Given the description of an element on the screen output the (x, y) to click on. 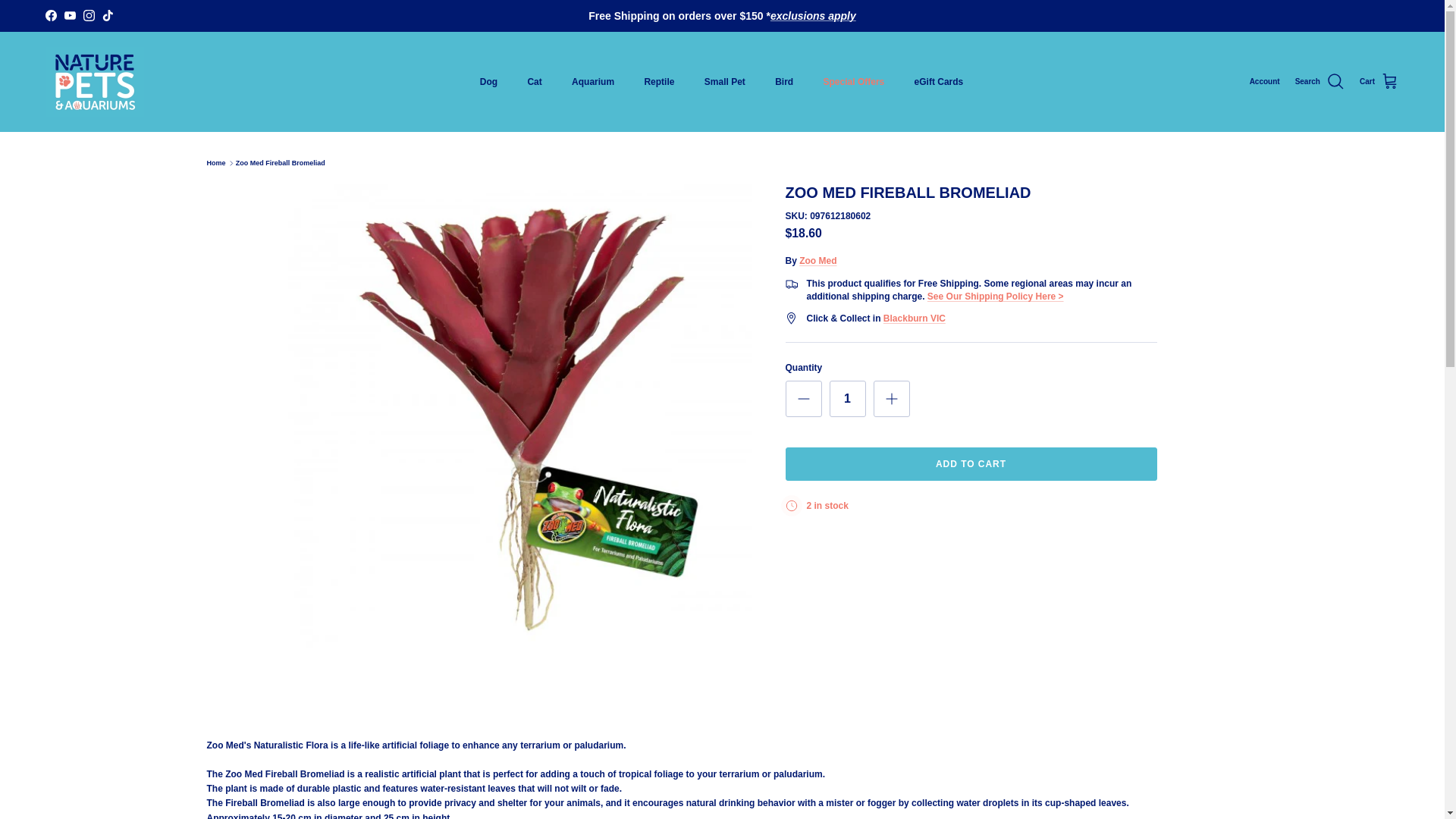
Account (1264, 81)
Special Offers (853, 81)
exclusions apply (813, 15)
Small Pet (724, 81)
Instagram (88, 15)
Dog (488, 81)
1 (847, 398)
Bird (783, 81)
YouTube (69, 15)
Reptile (658, 81)
eGift Cards (938, 81)
Cart (1379, 81)
Aquarium (592, 81)
Facebook (50, 15)
TikTok (107, 15)
